Given the description of an element on the screen output the (x, y) to click on. 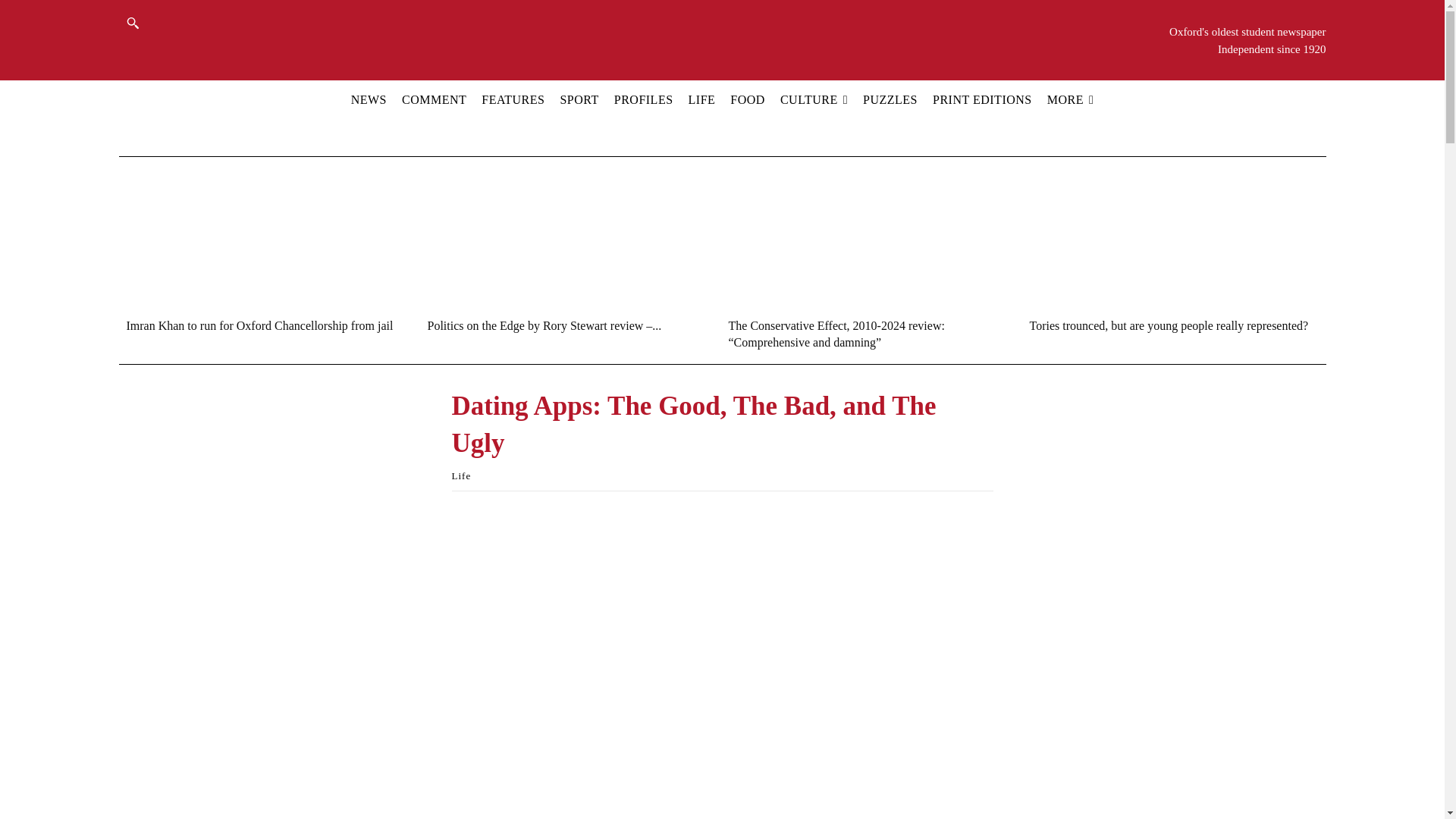
Tories trounced, but are young people really represented? (1164, 235)
NEWS (368, 99)
SPORT (579, 99)
Imran Khan to run for Oxford Chancellorship from jail (259, 325)
Tories trounced, but are young people really represented? (1168, 325)
PROFILES (643, 99)
CULTURE (813, 99)
FEATURES (512, 99)
Imran Khan to run for Oxford Chancellorship from jail (260, 235)
FOOD (747, 99)
View all posts in Life (461, 475)
COMMENT (433, 99)
LIFE (701, 99)
